Given the description of an element on the screen output the (x, y) to click on. 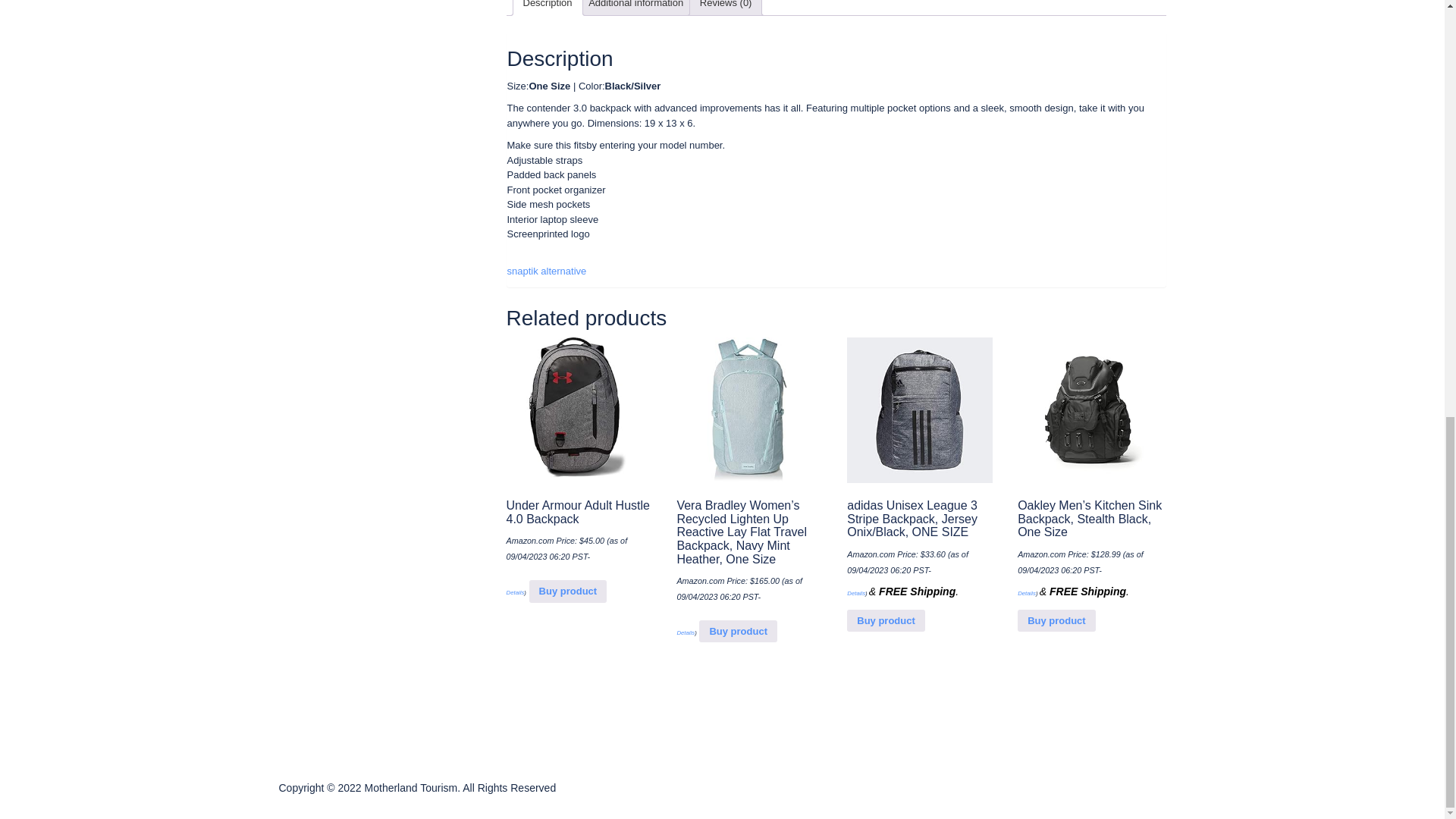
Additional information (635, 7)
Description (547, 7)
snaptik alternative (546, 270)
